Given the description of an element on the screen output the (x, y) to click on. 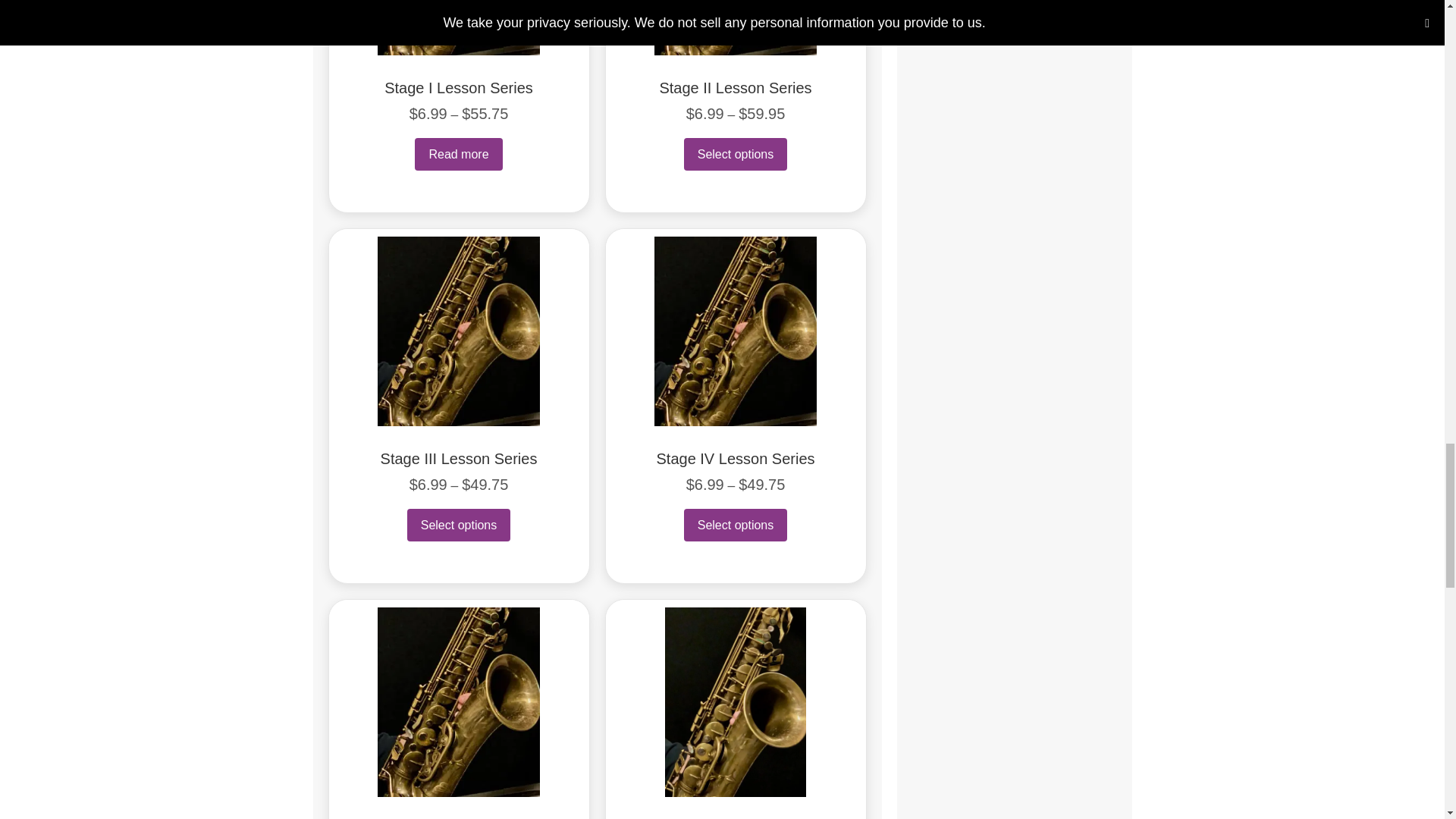
Stage III Lesson Series (458, 458)
Select options (459, 524)
Stage II Lesson Series (734, 87)
Stage I Lesson Series (458, 87)
Read more (458, 154)
Select options (735, 154)
